Given the description of an element on the screen output the (x, y) to click on. 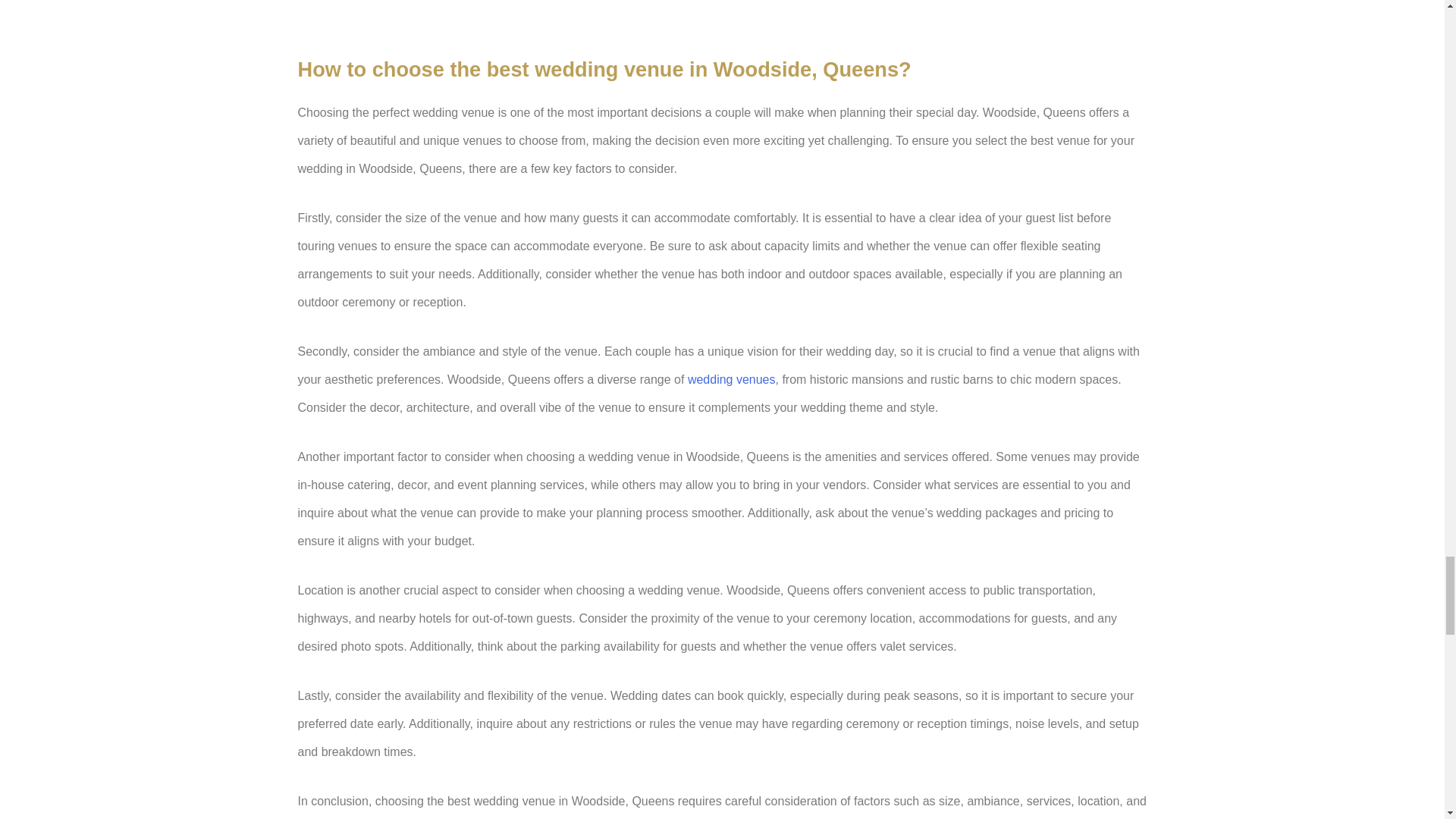
wedding venues (731, 379)
wedding venues (731, 379)
